Given the description of an element on the screen output the (x, y) to click on. 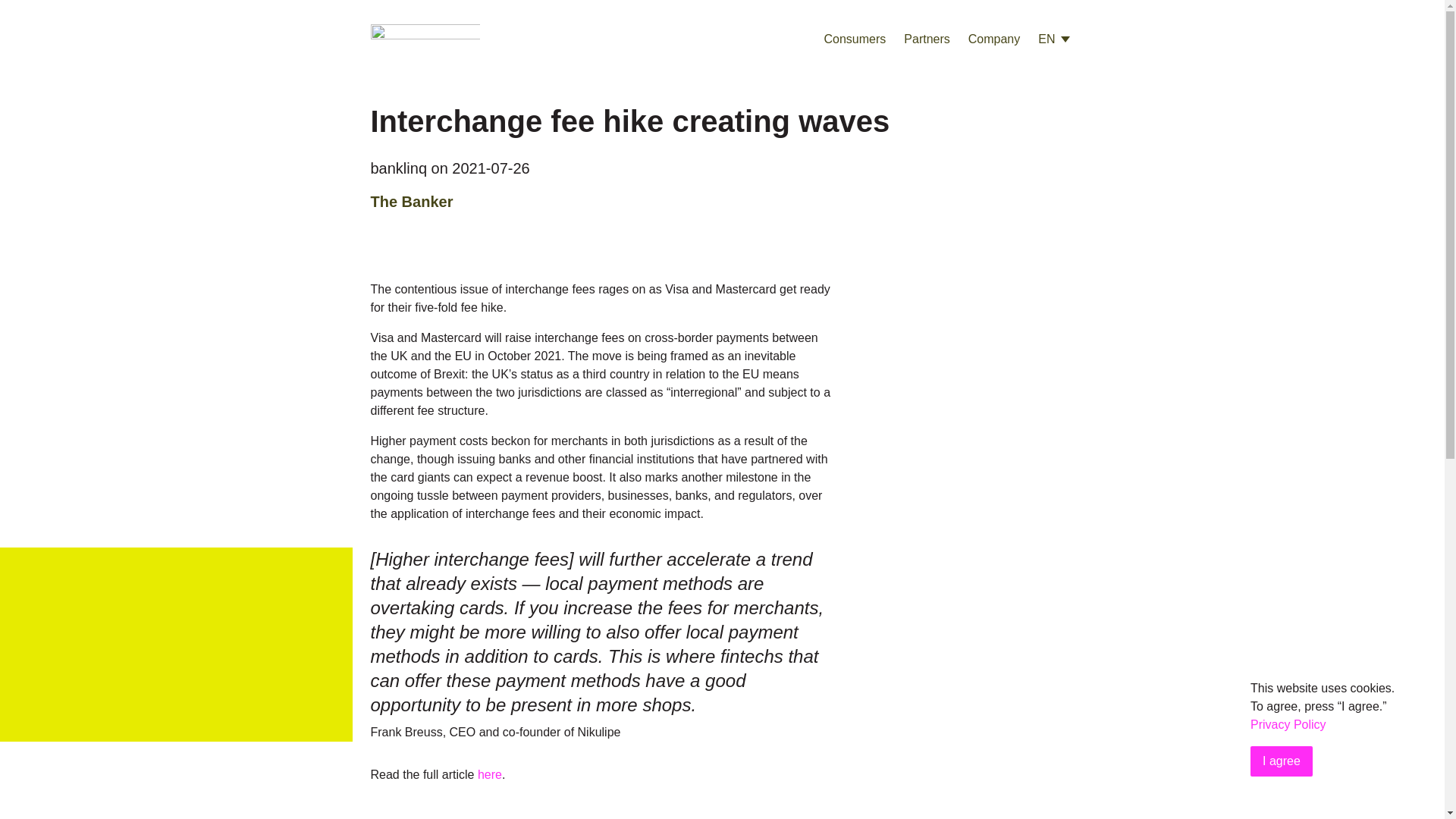
Partners (926, 38)
Company (994, 38)
Privacy Policy (1288, 724)
The Banker (410, 201)
Consumers (854, 38)
Company (994, 38)
Consumers (854, 38)
here (489, 774)
I agree (1281, 761)
Partners (926, 38)
